Given the description of an element on the screen output the (x, y) to click on. 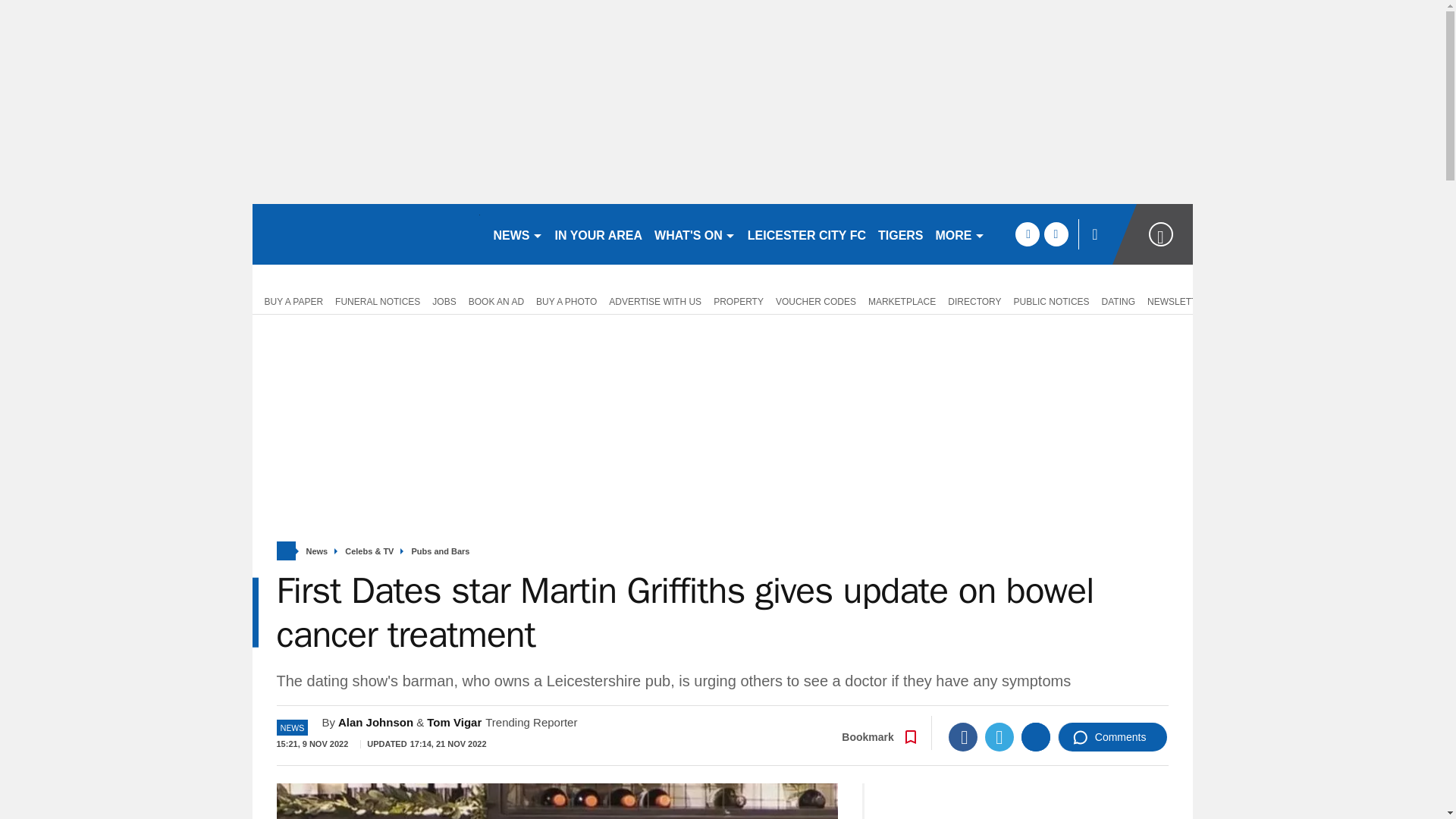
MORE (960, 233)
TIGERS (901, 233)
IN YOUR AREA (598, 233)
Twitter (999, 736)
twitter (1055, 233)
facebook (1026, 233)
NEWS (517, 233)
WHAT'S ON (694, 233)
Comments (1112, 736)
Facebook (962, 736)
leicestermercury (365, 233)
LEICESTER CITY FC (806, 233)
